Given the description of an element on the screen output the (x, y) to click on. 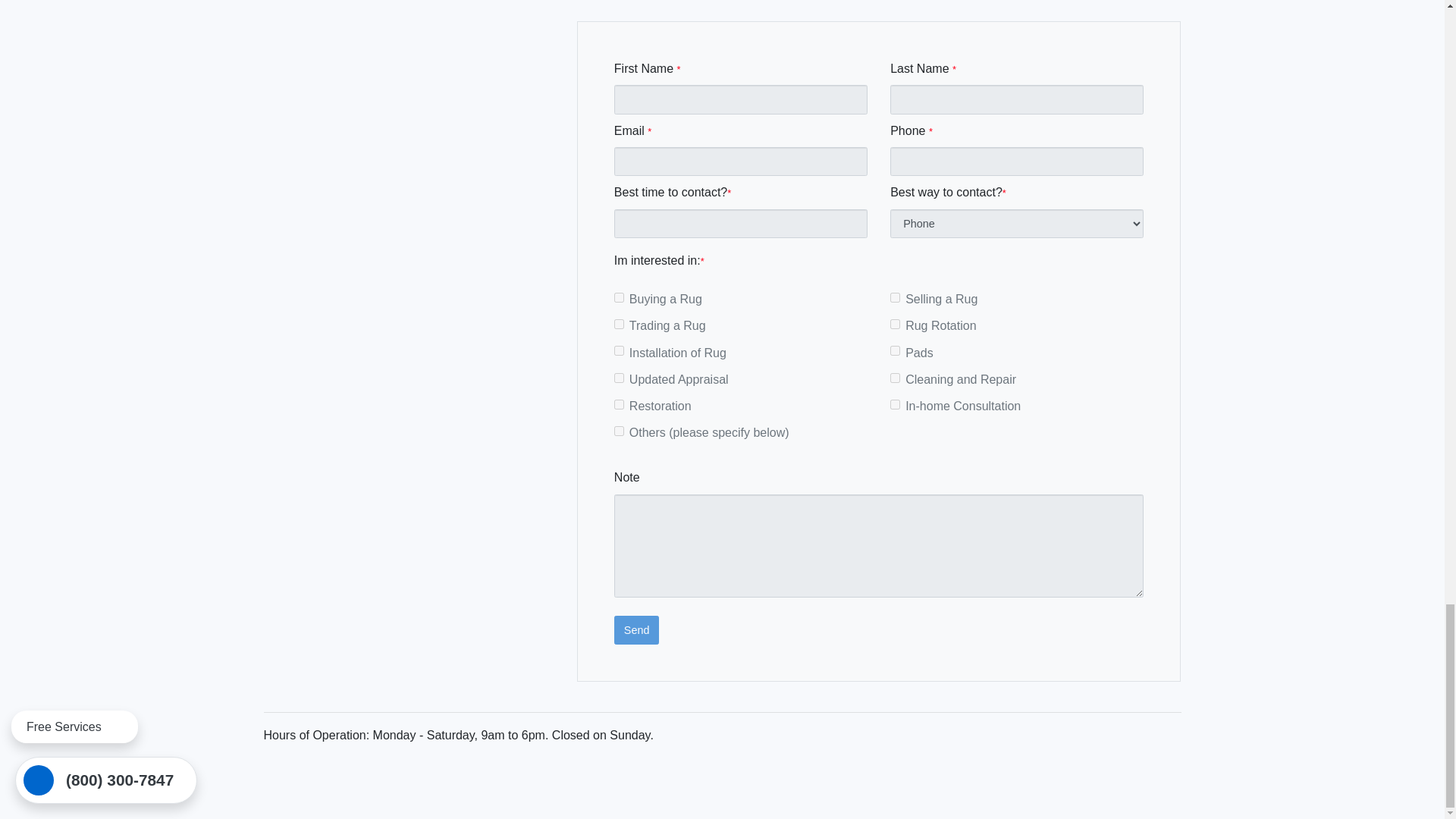
Other (619, 430)
Pads (894, 350)
Buying a Rug (619, 297)
Selling a Rug (894, 297)
Cleaning and Repair (894, 378)
Updated Appraisal (619, 378)
Rug Rotation (894, 324)
Restoration (619, 404)
Installation of Rug (619, 350)
In-home Consultation (894, 404)
Trading a Rug (619, 324)
